Given the description of an element on the screen output the (x, y) to click on. 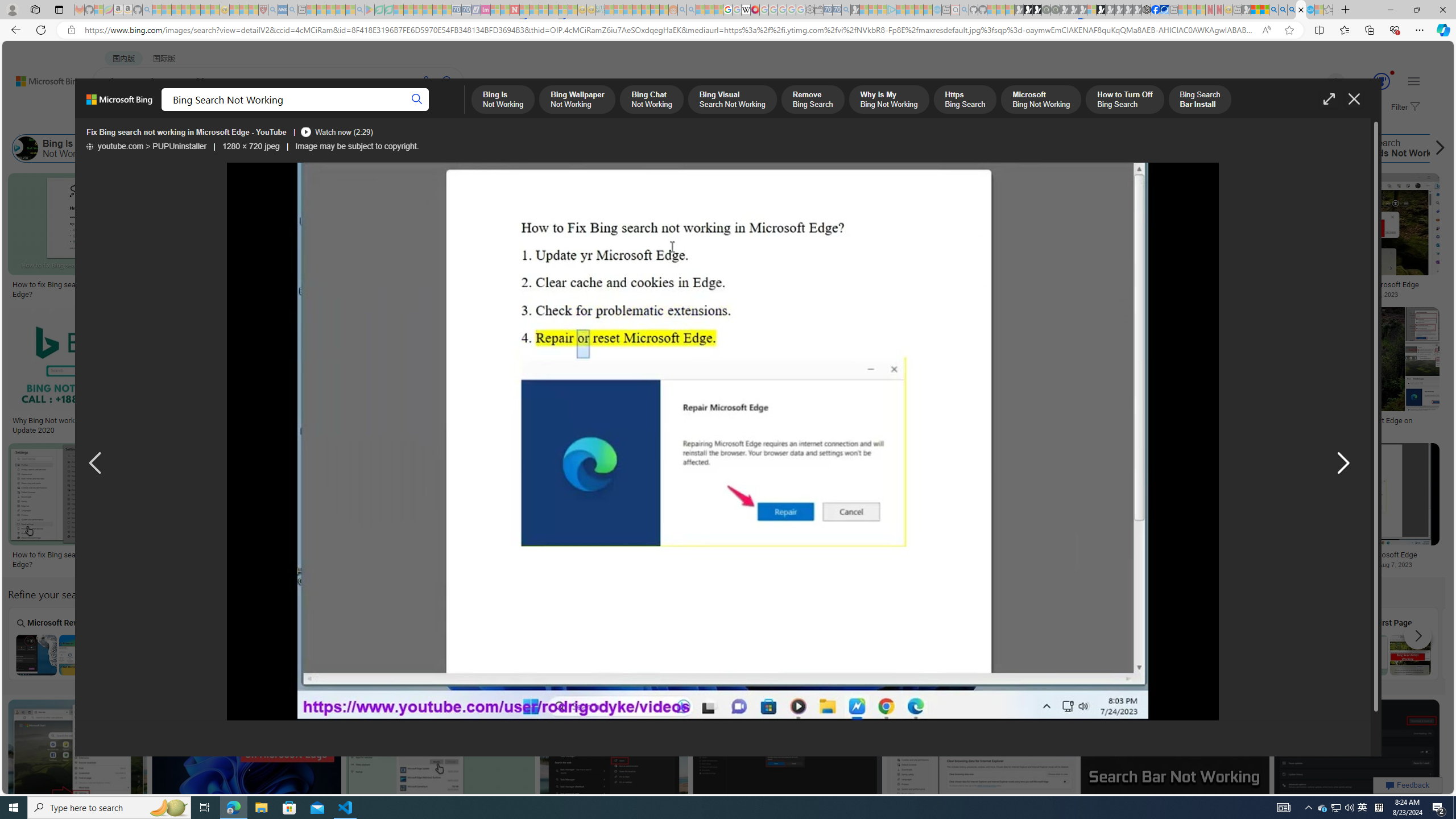
youtube.com>PUPUninstaller (145, 146)
Bing Is Not Working (25, 148)
Nordace | Facebook (1154, 9)
Expert Portfolios - Sleeping (636, 9)
My Tablet (160, 643)
Full screen (1328, 99)
Bing Tablet Search Not Working (364, 655)
Bing Visual Search Not Working (381, 148)
WEB (114, 111)
Next image result (1349, 463)
Why Is My Bing Not Working (598, 148)
